Given the description of an element on the screen output the (x, y) to click on. 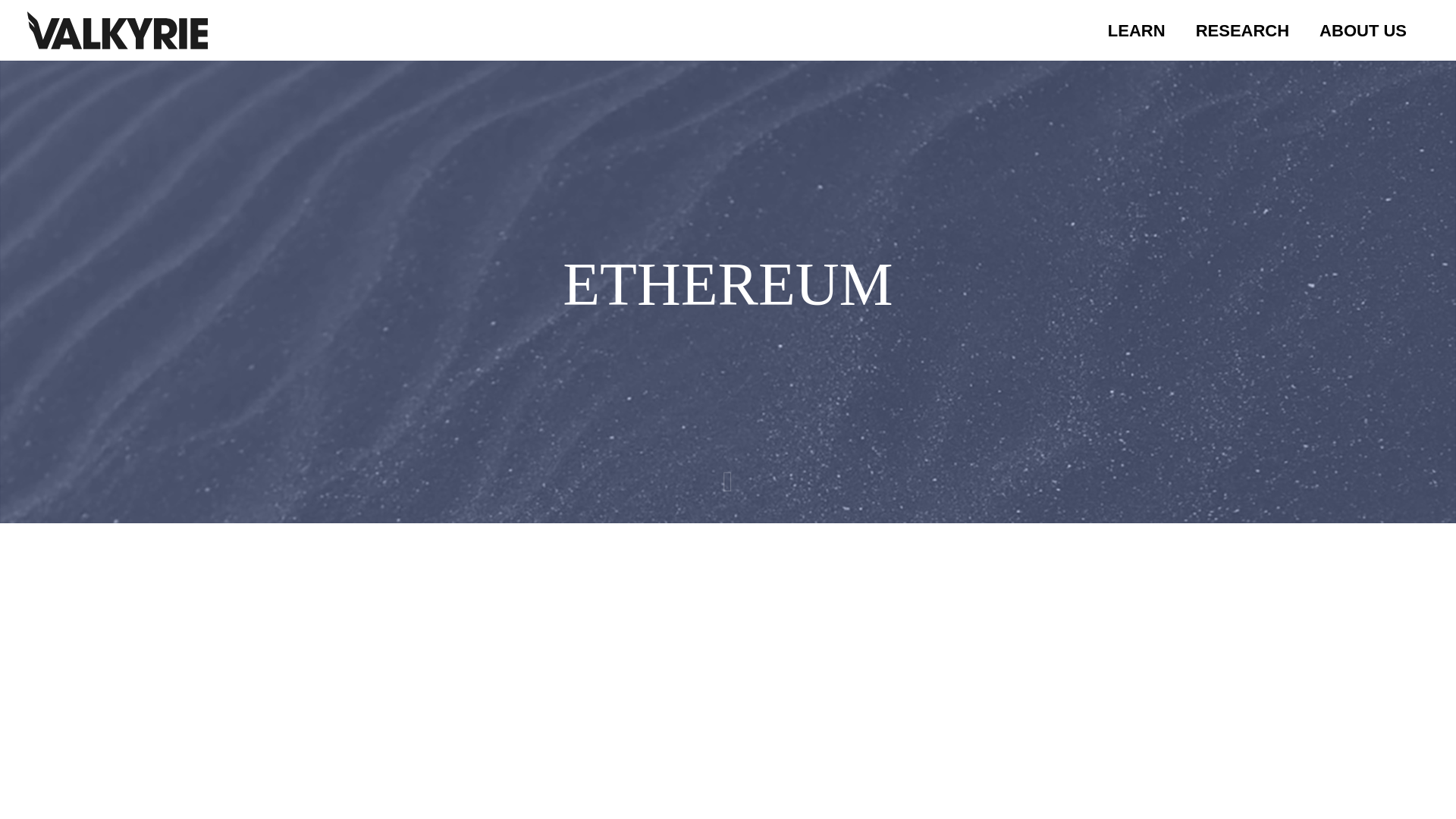
RESEARCH (1242, 30)
ABOUT US (1363, 30)
LEARN (727, 30)
